Given the description of an element on the screen output the (x, y) to click on. 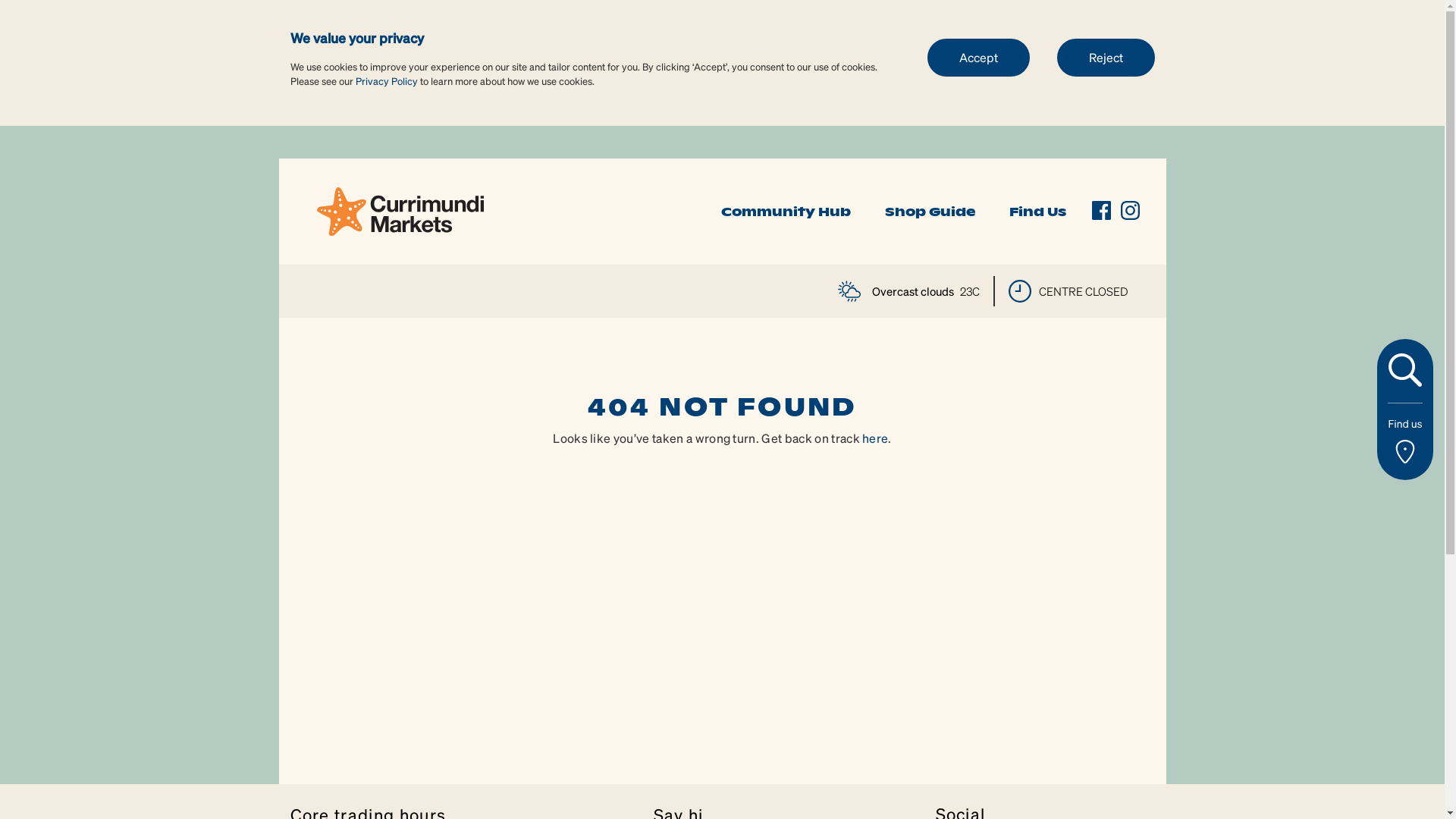
Community Hub Element type: text (785, 211)
time Element type: hover (1019, 290)
Shop Guide Element type: text (929, 211)
CENTRE CLOSED Element type: text (1068, 290)
Reject Element type: text (1105, 56)
Find Us Element type: text (1036, 211)
here Element type: text (875, 437)
facebook Element type: hover (1101, 209)
Privacy Policy Element type: text (385, 80)
instagram Element type: hover (1129, 209)
Accept Element type: text (977, 56)
